Given the description of an element on the screen output the (x, y) to click on. 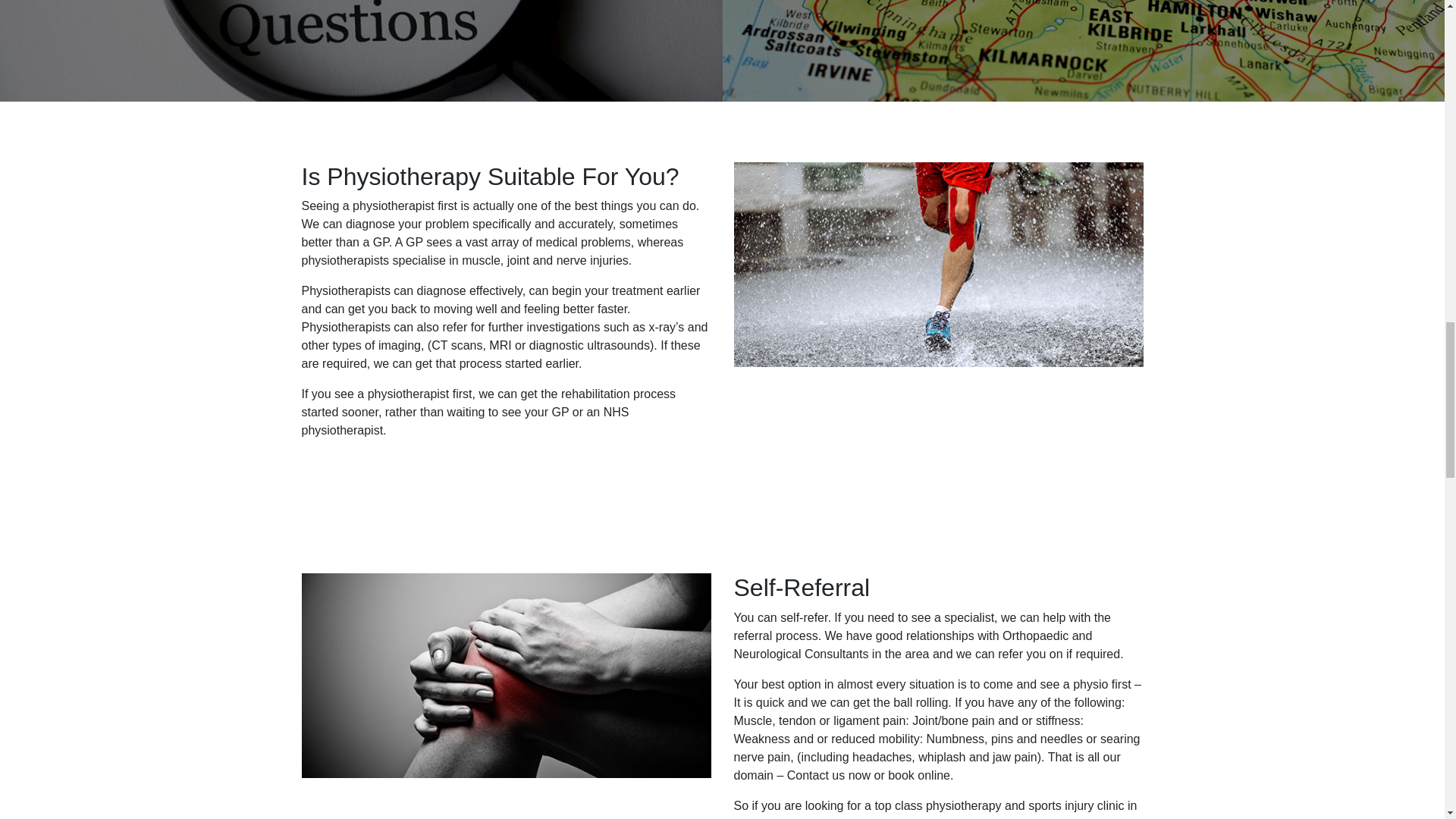
07792 043241 (873, 818)
FAQs (361, 50)
